Given the description of an element on the screen output the (x, y) to click on. 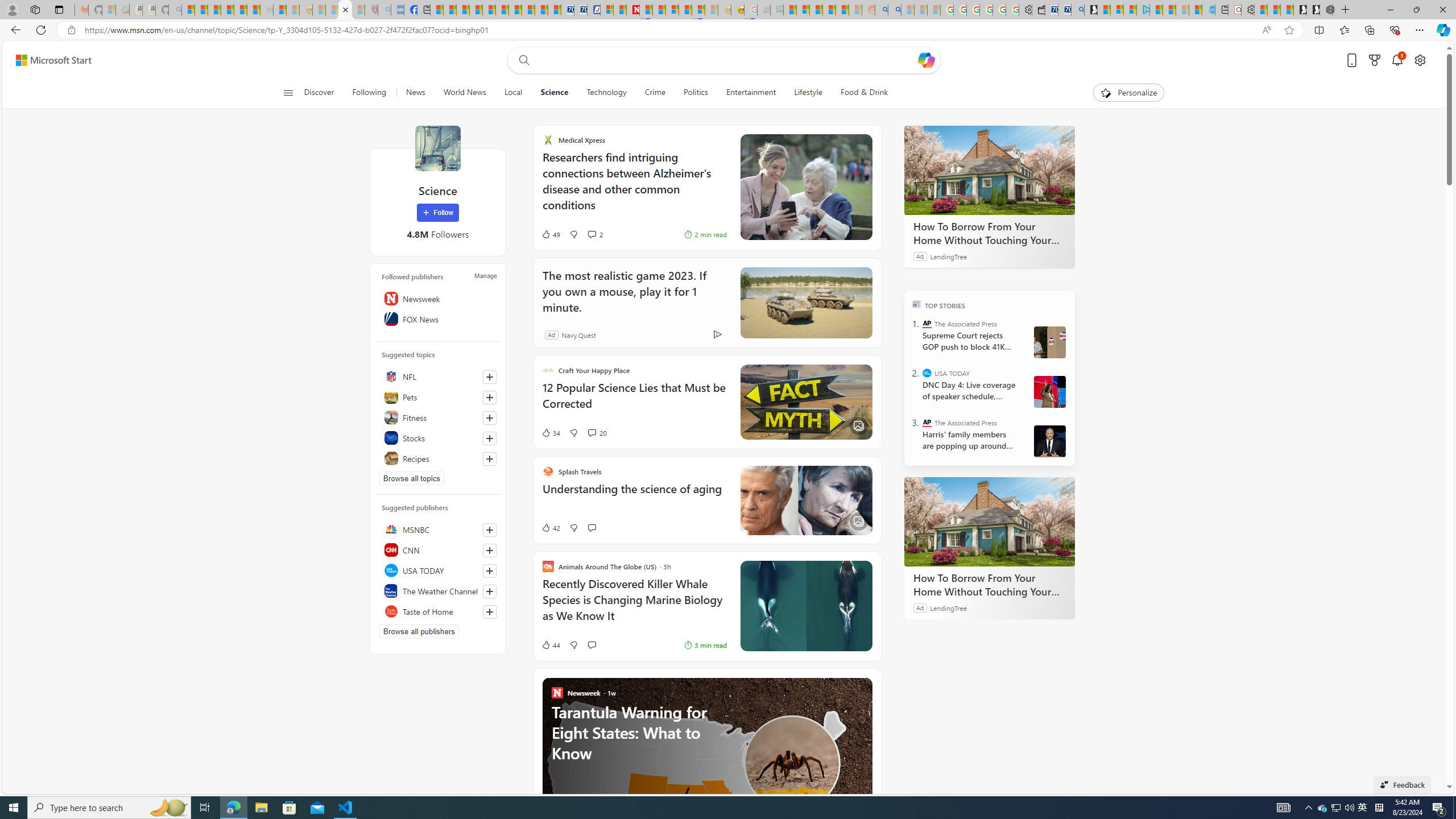
The Weather Channel - MSN (213, 9)
